Given the description of an element on the screen output the (x, y) to click on. 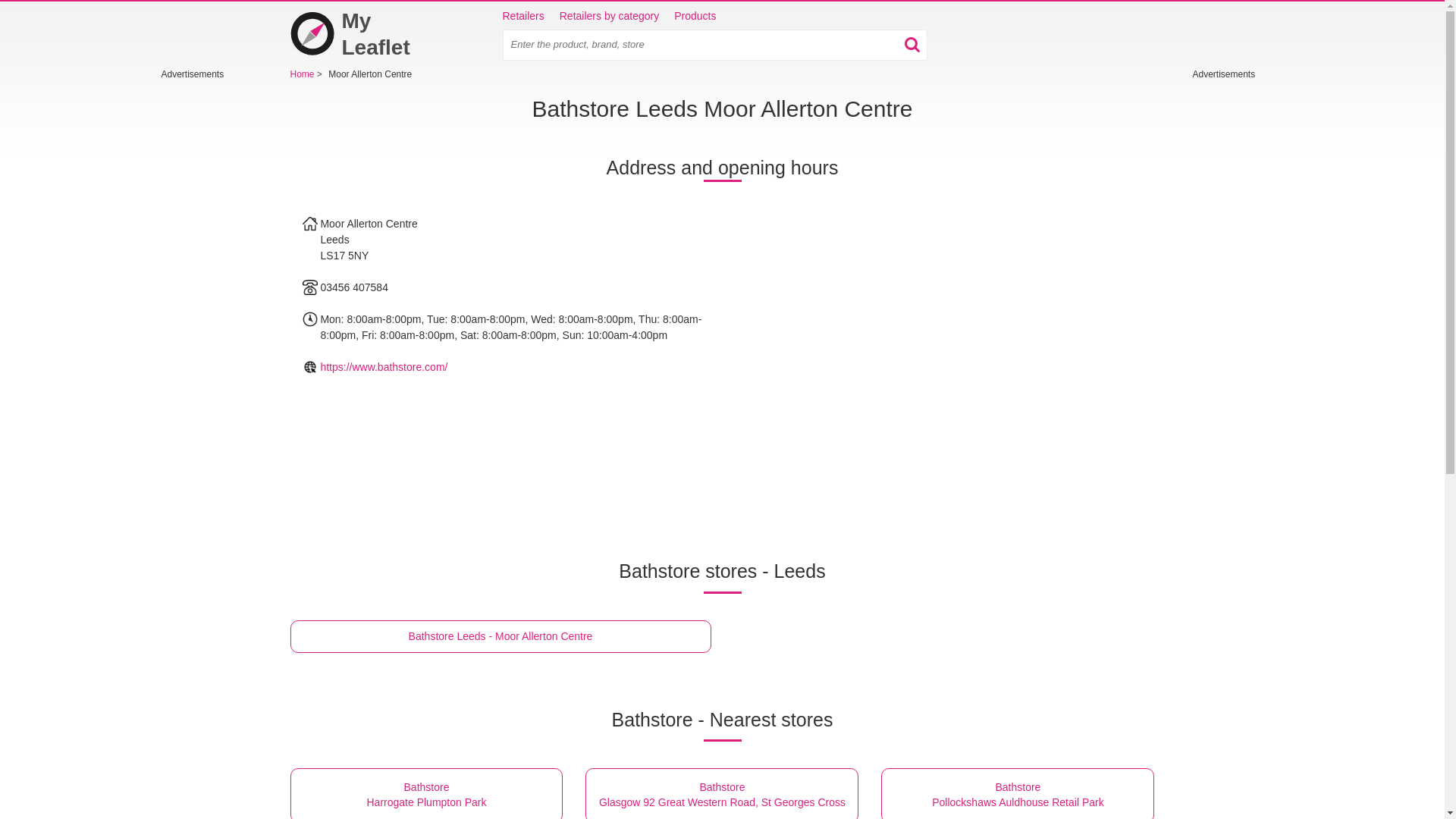
Home (722, 793)
Home (365, 33)
Bathstore Leeds - Moor Allerton Centre (302, 73)
Products (1017, 793)
My Leaflet (499, 635)
Retailers (425, 793)
Retailers by category (695, 16)
